Given the description of an element on the screen output the (x, y) to click on. 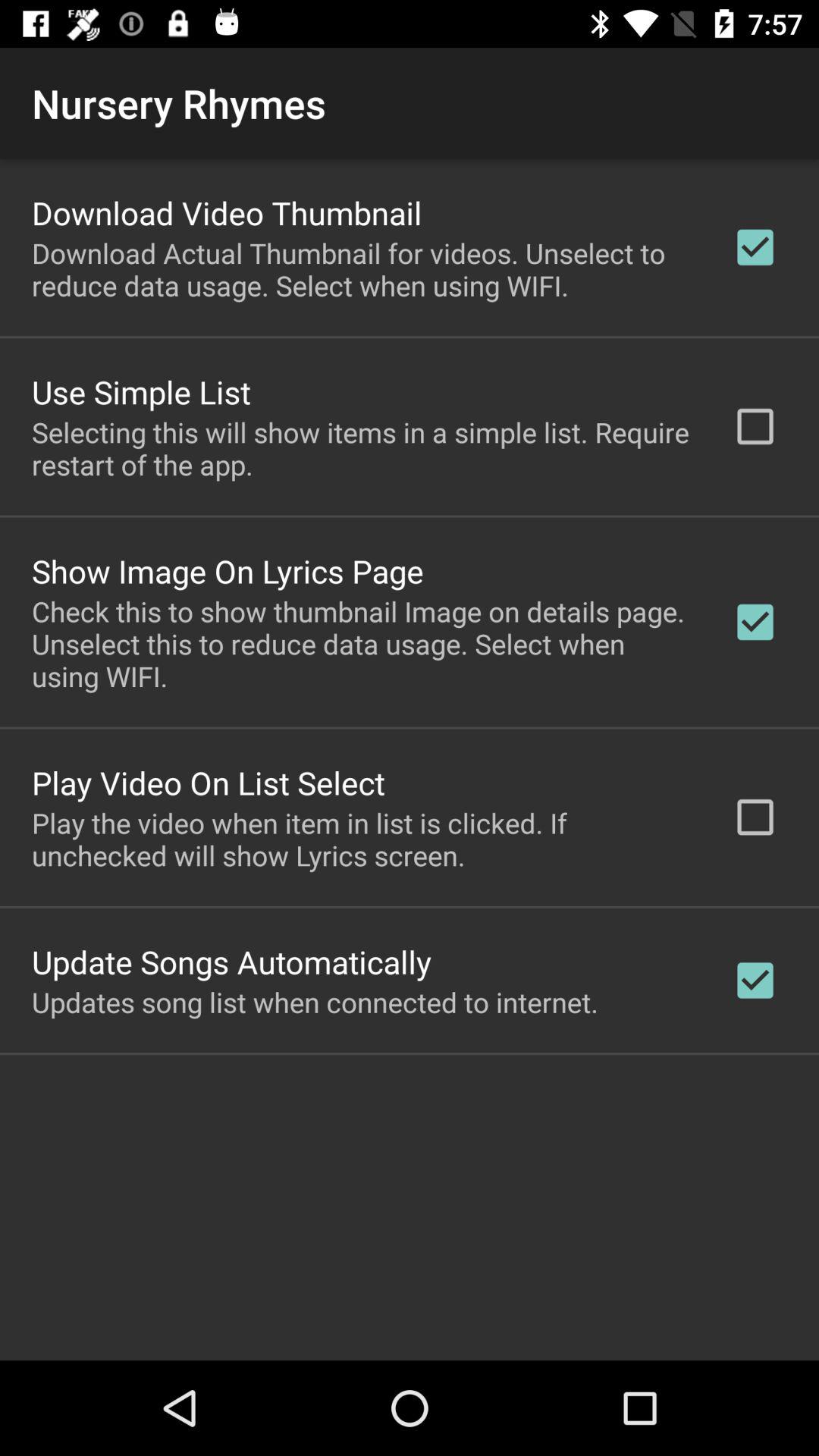
scroll until update songs automatically app (231, 961)
